Given the description of an element on the screen output the (x, y) to click on. 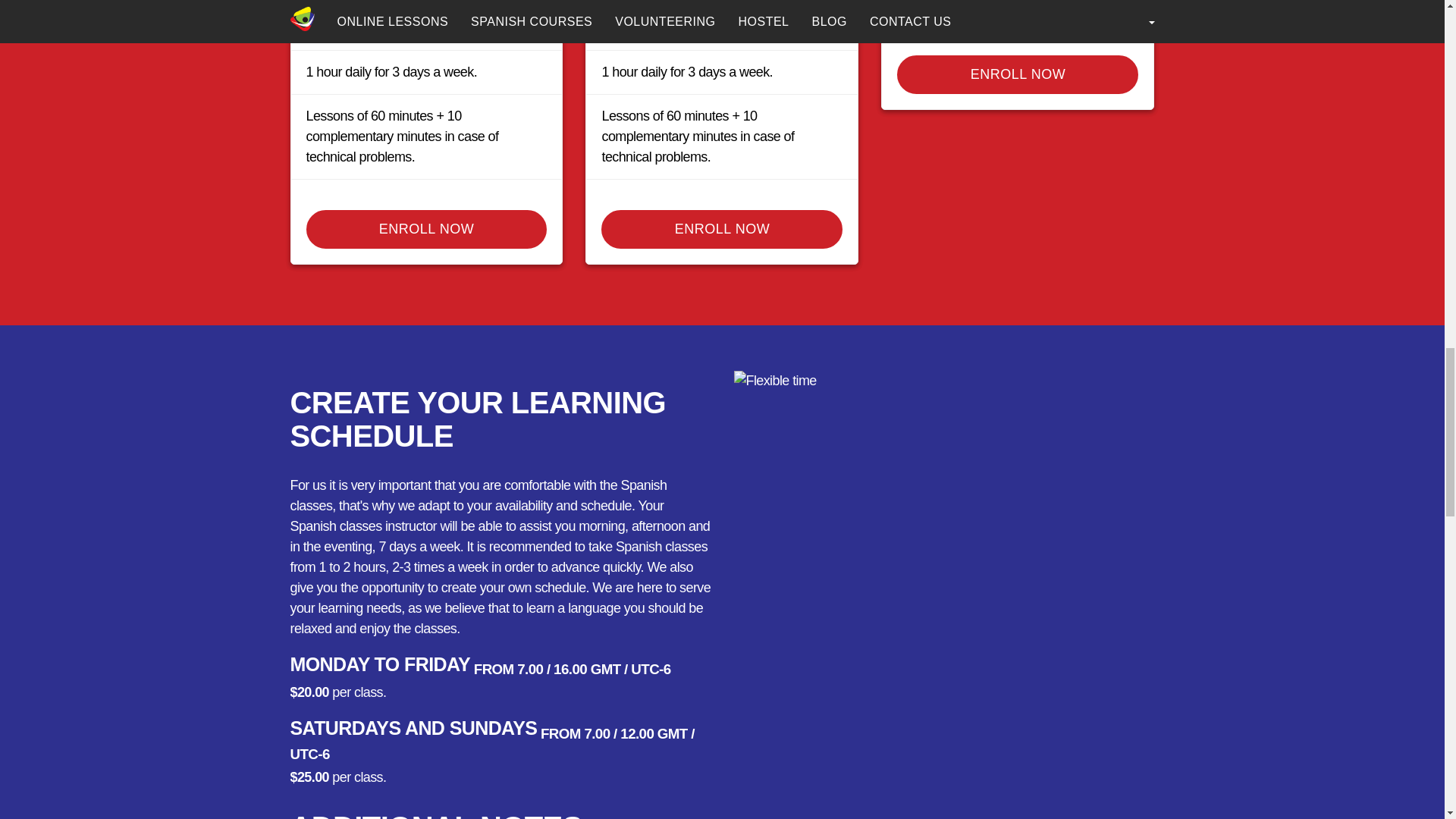
ENROLL NOW (722, 228)
ENROLL NOW (426, 228)
ENROLL NOW (1017, 73)
